Given the description of an element on the screen output the (x, y) to click on. 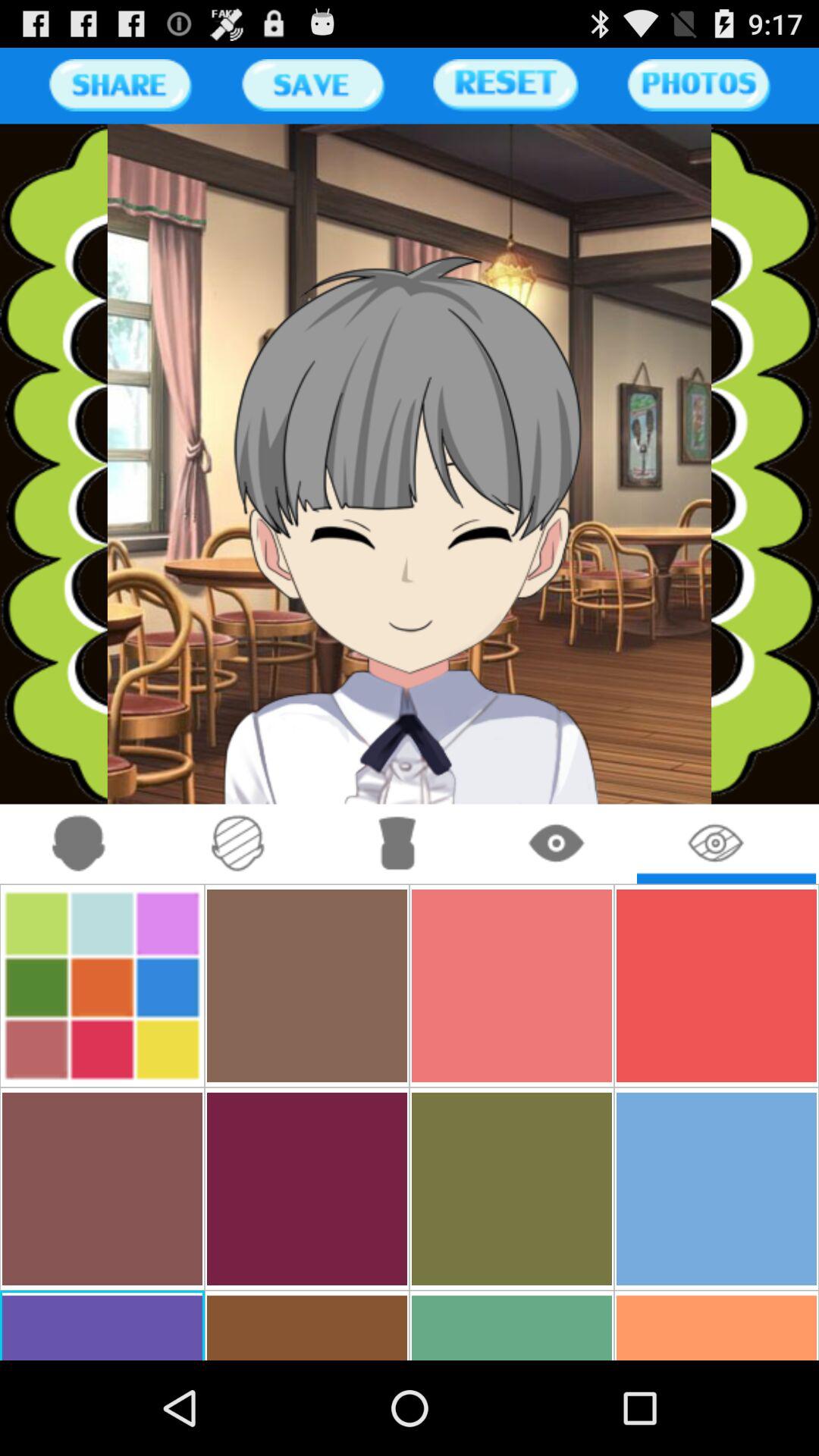
eye icon (716, 843)
